Given the description of an element on the screen output the (x, y) to click on. 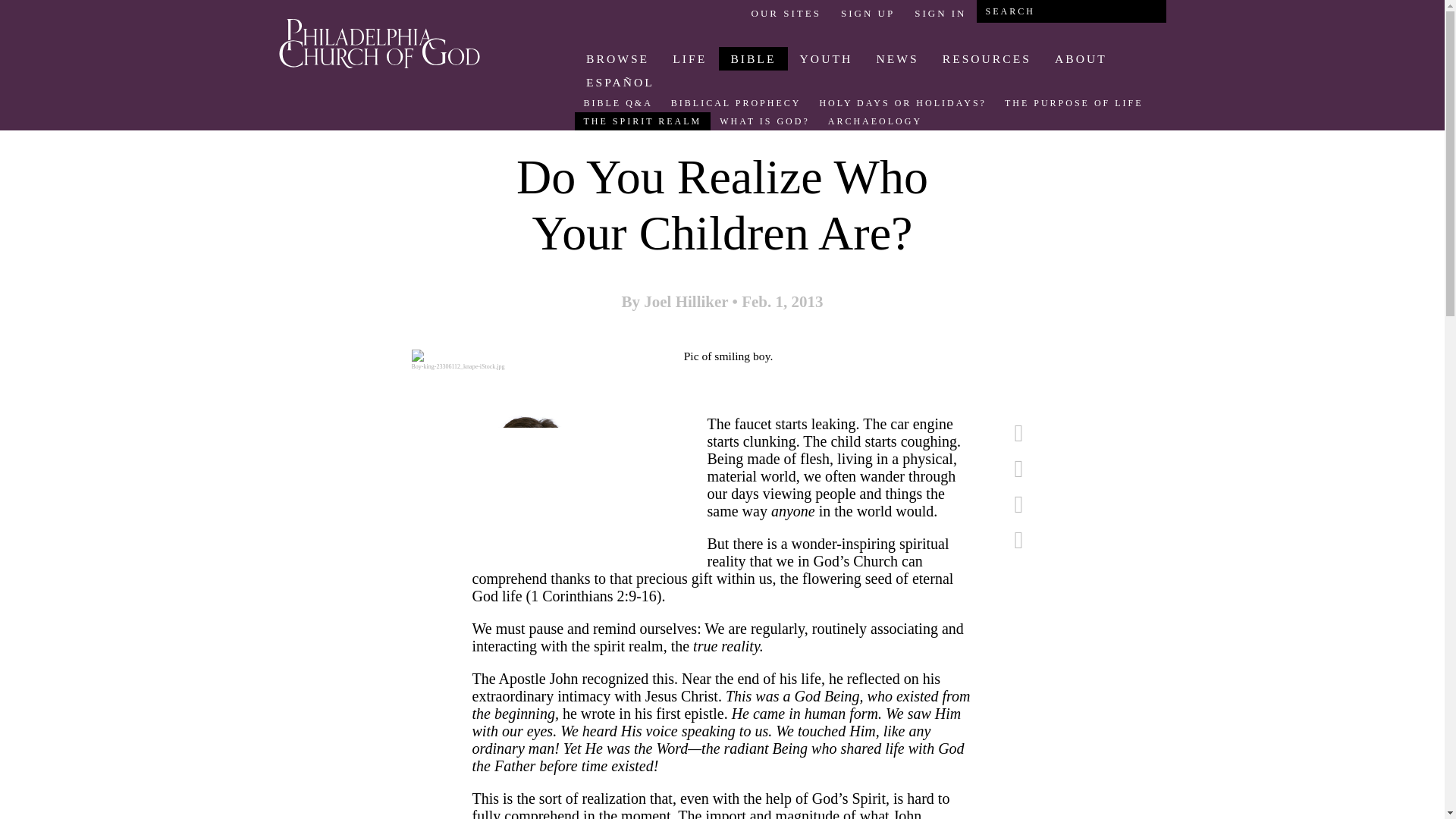
BIBLE (753, 58)
ABOUT (1080, 58)
SIGN IN (939, 12)
RESOURCES (986, 58)
NEWS (897, 58)
SIGN UP (867, 12)
OUR SITES (786, 12)
LIFE (690, 58)
YOUTH (825, 58)
BROWSE (618, 58)
